Given the description of an element on the screen output the (x, y) to click on. 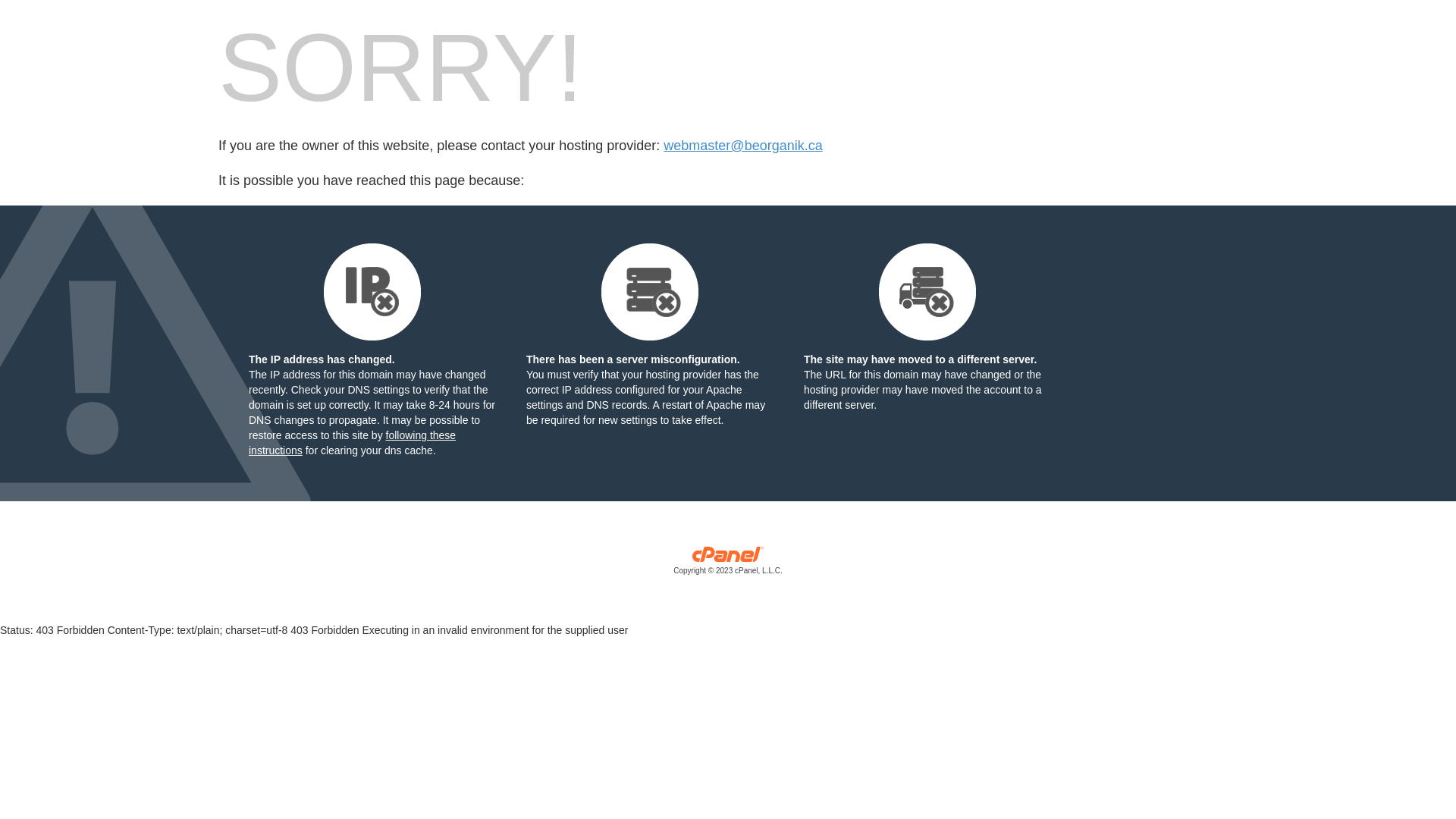
webmaster@beorganik.ca Element type: text (742, 145)
following these instructions Element type: text (351, 442)
